Given the description of an element on the screen output the (x, y) to click on. 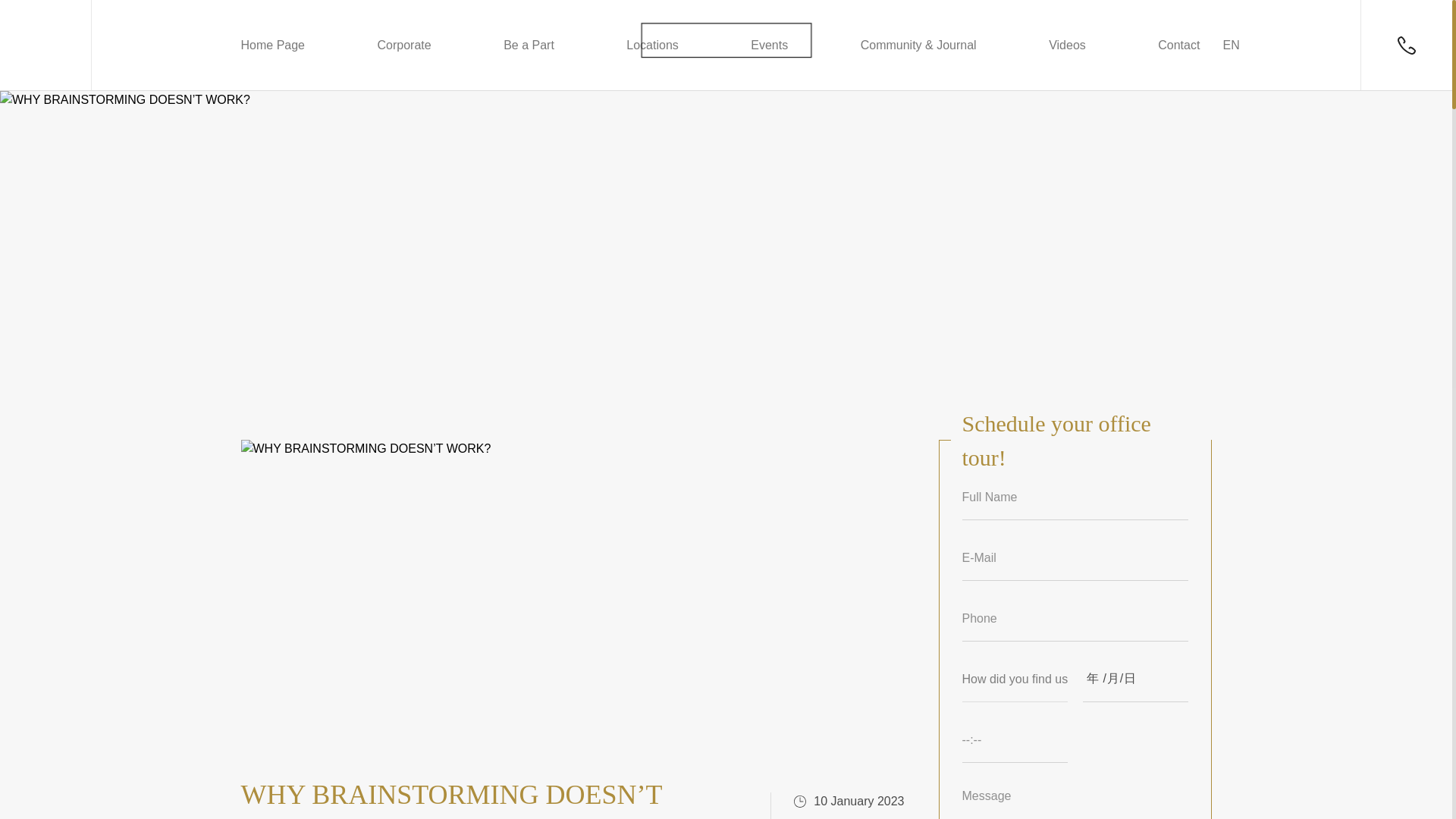
Corporate (403, 45)
Events (769, 45)
Videos (1067, 45)
Locations (652, 45)
Home Page (273, 45)
Contact (1178, 45)
EN (1231, 45)
Be a Part (528, 45)
